Given the description of an element on the screen output the (x, y) to click on. 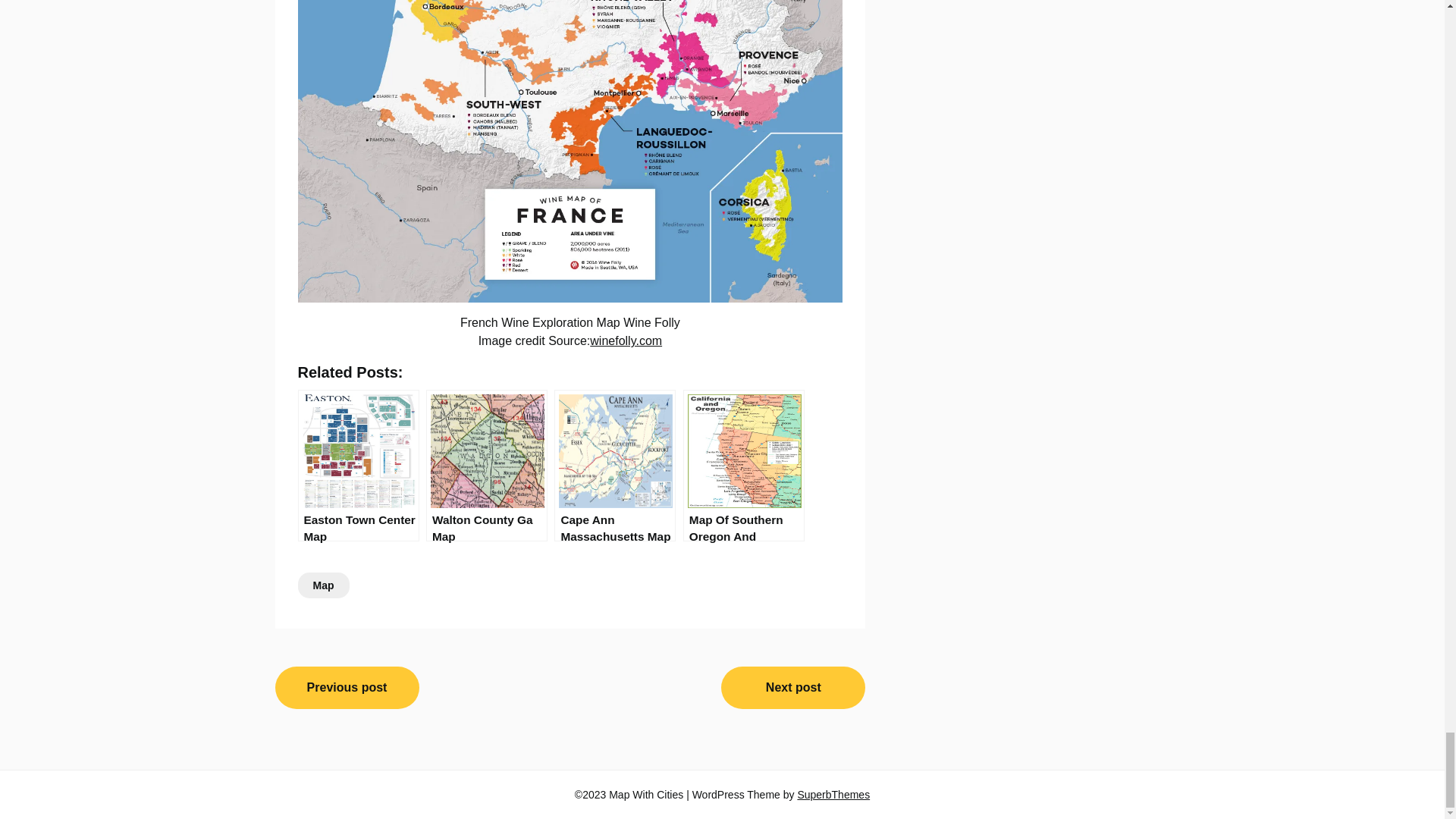
winefolly.com (625, 340)
Previous post (347, 687)
Next post (792, 687)
Map (323, 585)
